Given the description of an element on the screen output the (x, y) to click on. 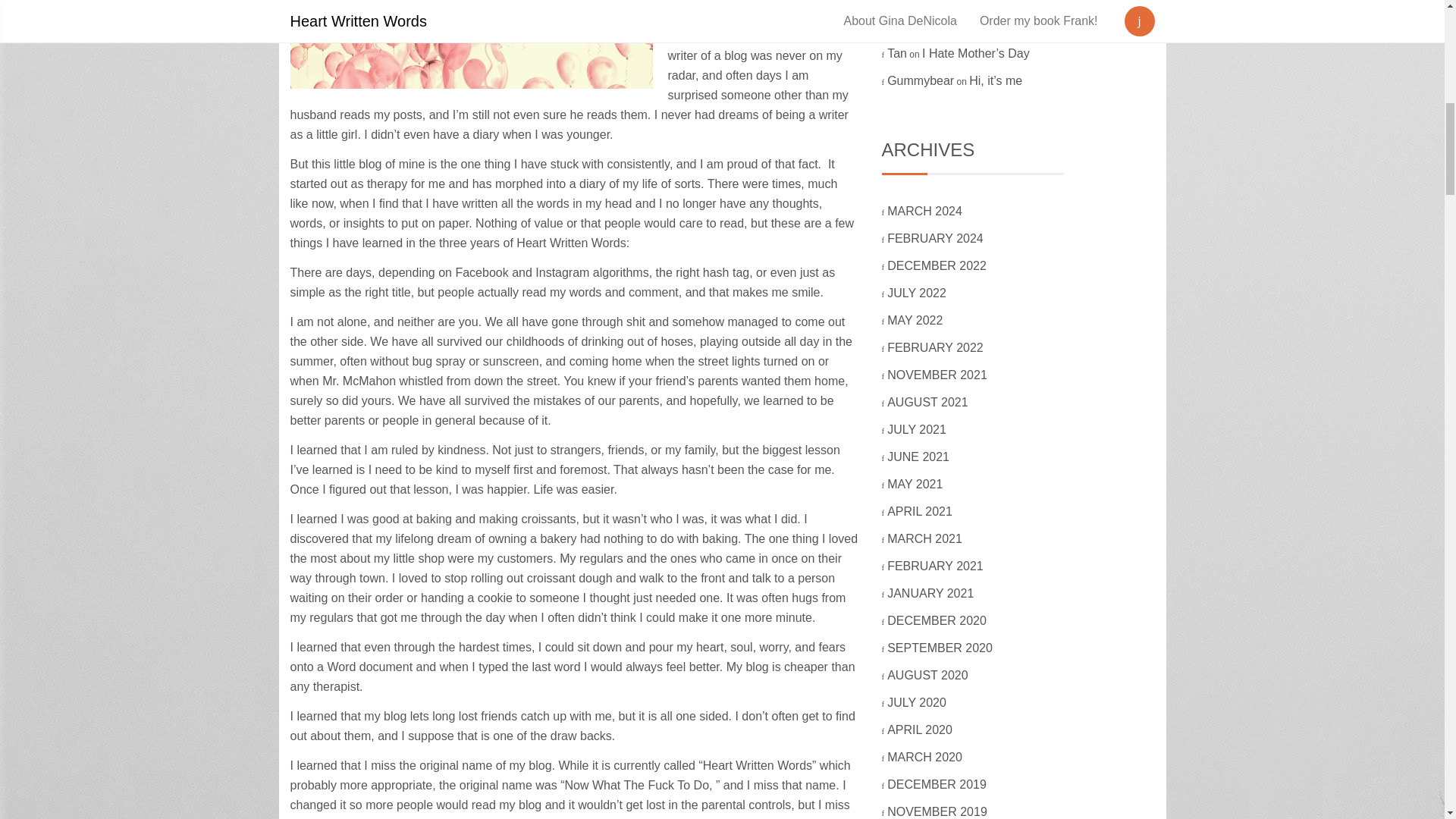
Weddings, Old Age, Life. (983, 25)
DECEMBER 2022 (937, 265)
MAY 2022 (915, 319)
FEBRUARY 2022 (935, 347)
AUGUST 2021 (927, 401)
FEBRUARY 2024 (935, 237)
NOVEMBER 2021 (938, 374)
JULY 2022 (917, 292)
Christmas Eve, New Traditions and Funerals (1004, 2)
MARCH 2024 (924, 210)
